Given the description of an element on the screen output the (x, y) to click on. 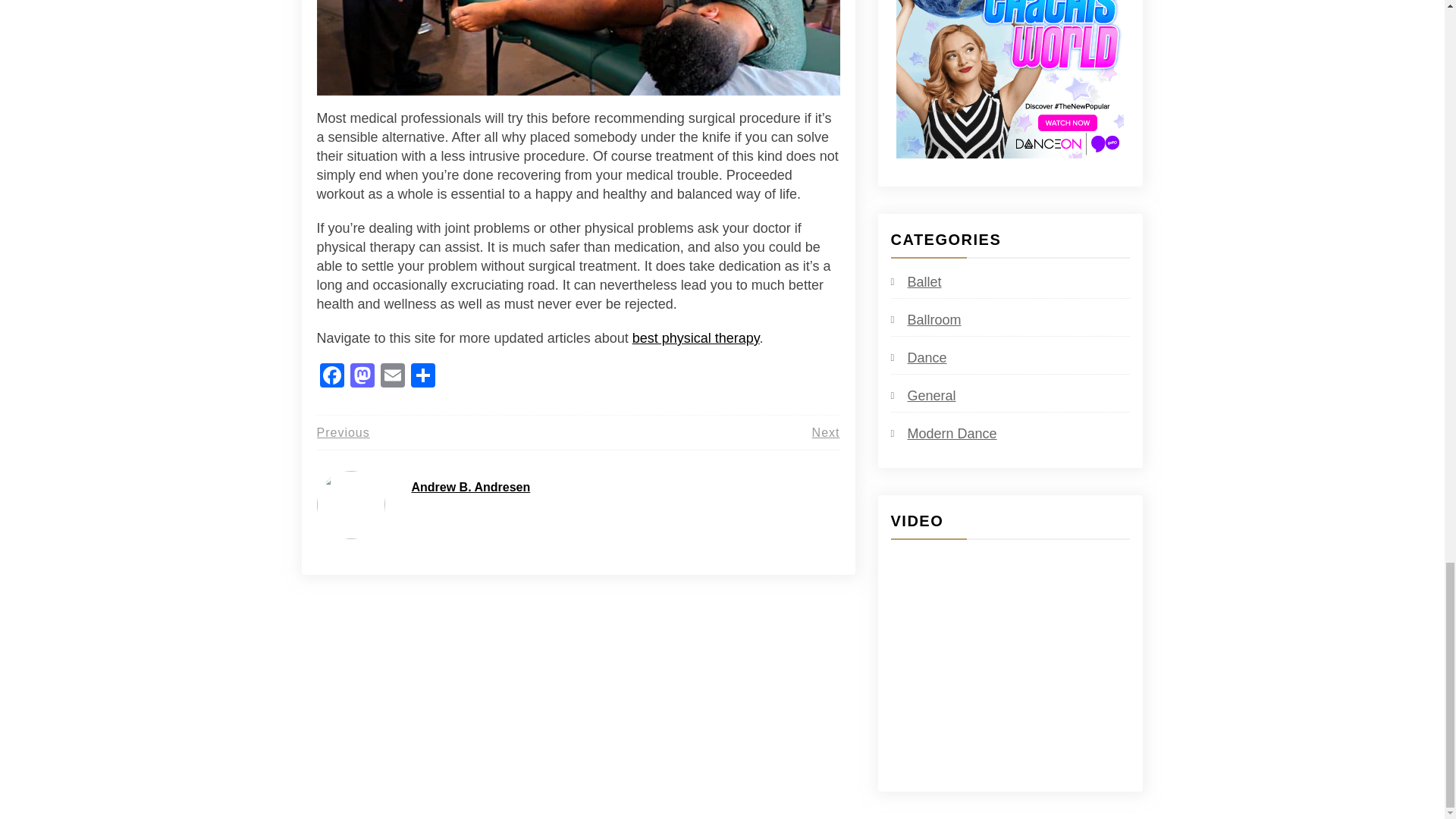
best physical therapy (695, 337)
Email (392, 377)
Posts by Andrew B. Andresen (469, 486)
Mastodon (362, 377)
Facebook (332, 377)
Previous (343, 431)
Mastodon (362, 377)
Facebook (332, 377)
Andrew B. Andresen (469, 486)
Share (422, 377)
Next (826, 431)
Email (392, 377)
